Given the description of an element on the screen output the (x, y) to click on. 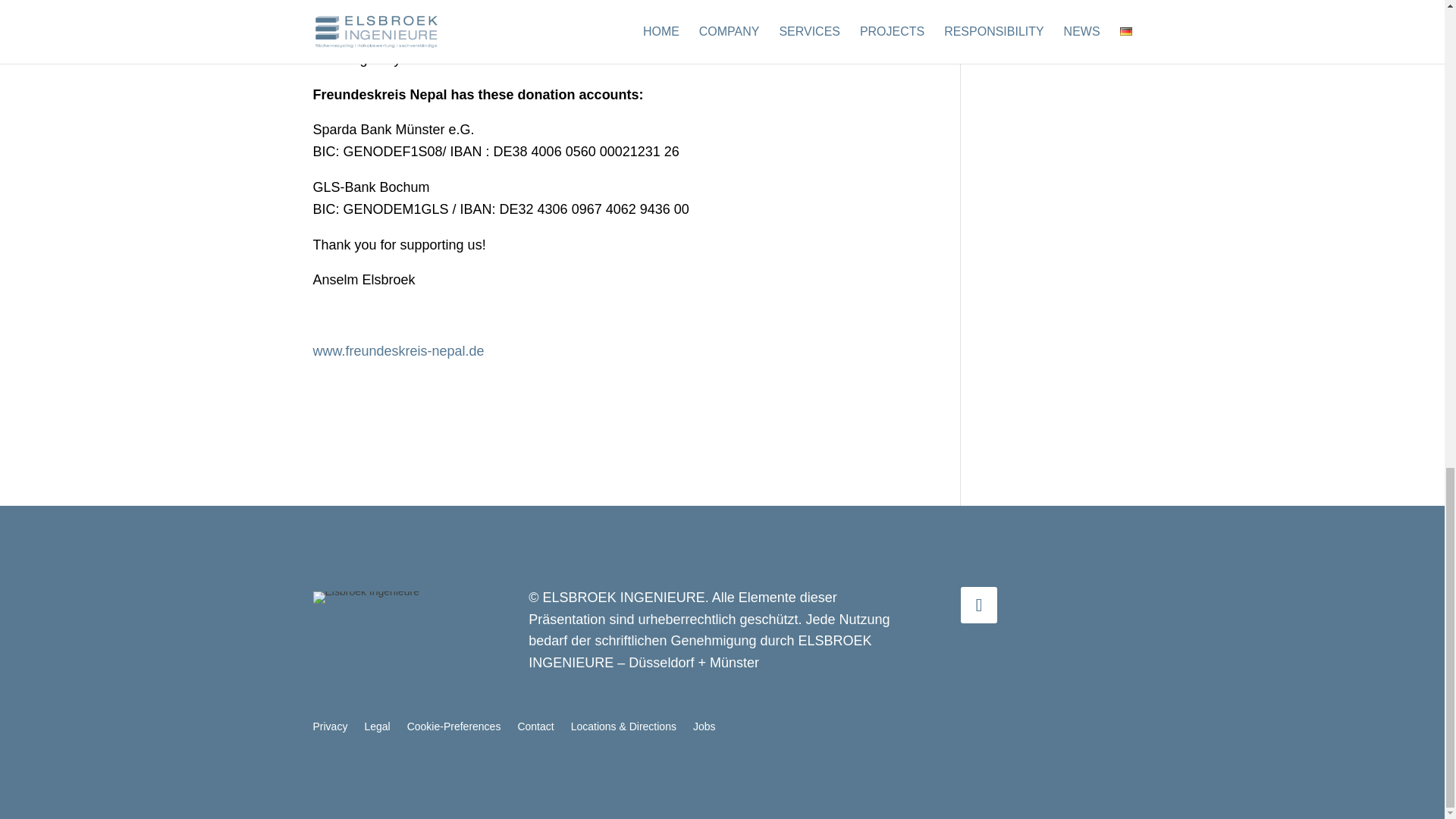
www.freundeskreis-nepal.de (398, 350)
Cookie-Preferences (453, 729)
elsbroek-logo-5454 (366, 597)
Opens external link in new window (398, 350)
Follow on LinkedIn (978, 605)
Privacy (330, 729)
Jobs (704, 729)
Contact (534, 729)
Legal (377, 729)
